Given the description of an element on the screen output the (x, y) to click on. 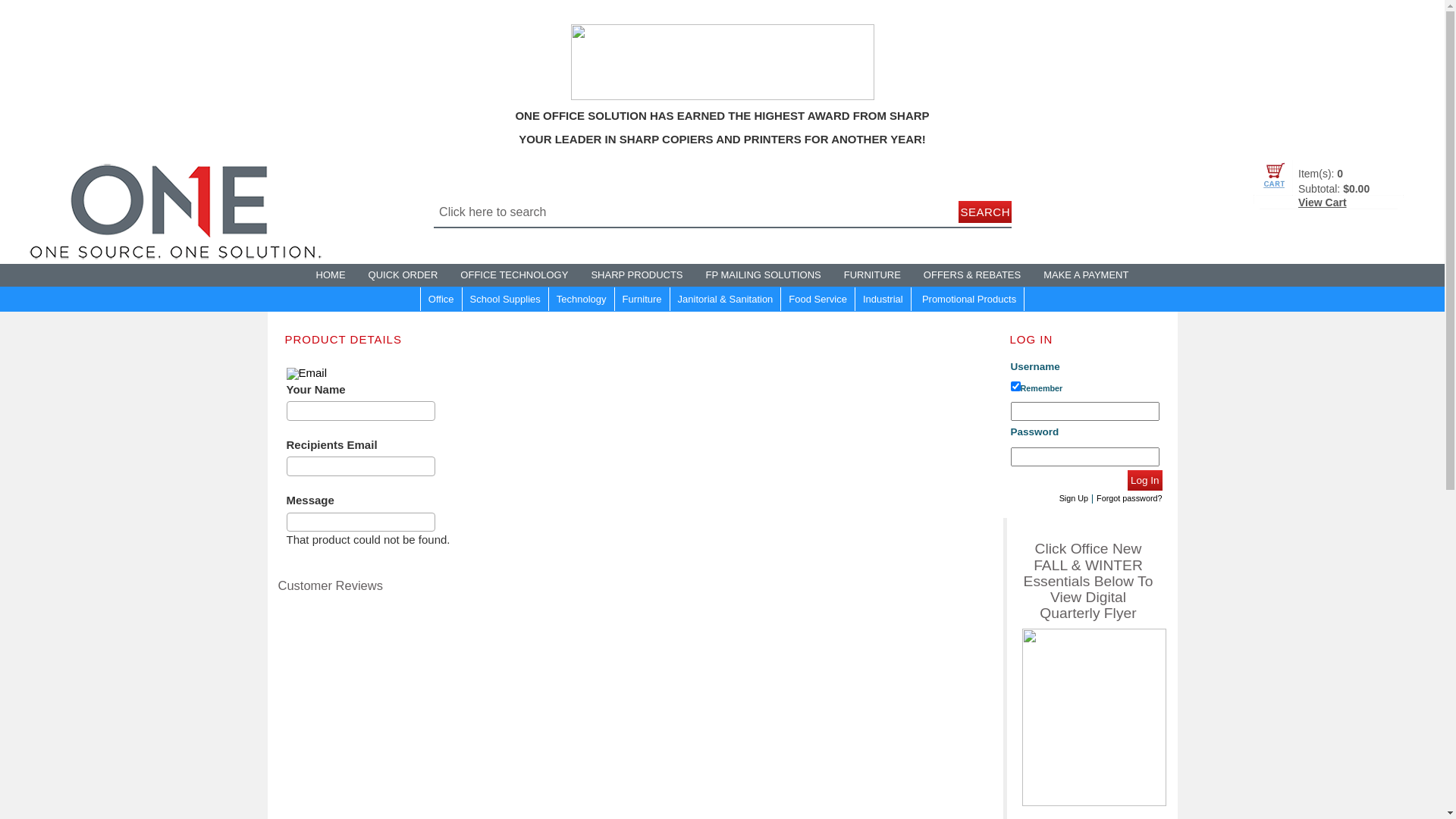
Click here to search Element type: hover (693, 211)
QUICK ORDER Element type: text (403, 274)
Sign Up Element type: text (1073, 497)
Janitorial & Sanitation Element type: text (725, 298)
ONE OFFICE SOLUTION Element type: text (174, 209)
Email Element type: text (306, 372)
OFFERS & REBATES Element type: text (972, 274)
Log In Element type: text (1144, 480)
FURNITURE Element type: text (872, 274)
Furniture Element type: text (642, 298)
View Cart Element type: text (1322, 202)
Office Element type: text (441, 298)
OFFICE TECHNOLOGY Element type: text (513, 274)
Promotional Products Element type: text (969, 298)
School Supplies Element type: text (505, 298)
HOME Element type: text (330, 274)
Technology Element type: text (582, 298)
MAKE A PAYMENT Element type: text (1085, 274)
Food Service Element type: text (818, 298)
Search Element type: text (984, 211)
FP MAILING SOLUTIONS Element type: text (763, 274)
Industrial Element type: text (883, 298)
Forgot password? Element type: text (1128, 497)
SHARP PRODUCTS Element type: text (636, 274)
View Cart Element type: text (1327, 176)
